Given the description of an element on the screen output the (x, y) to click on. 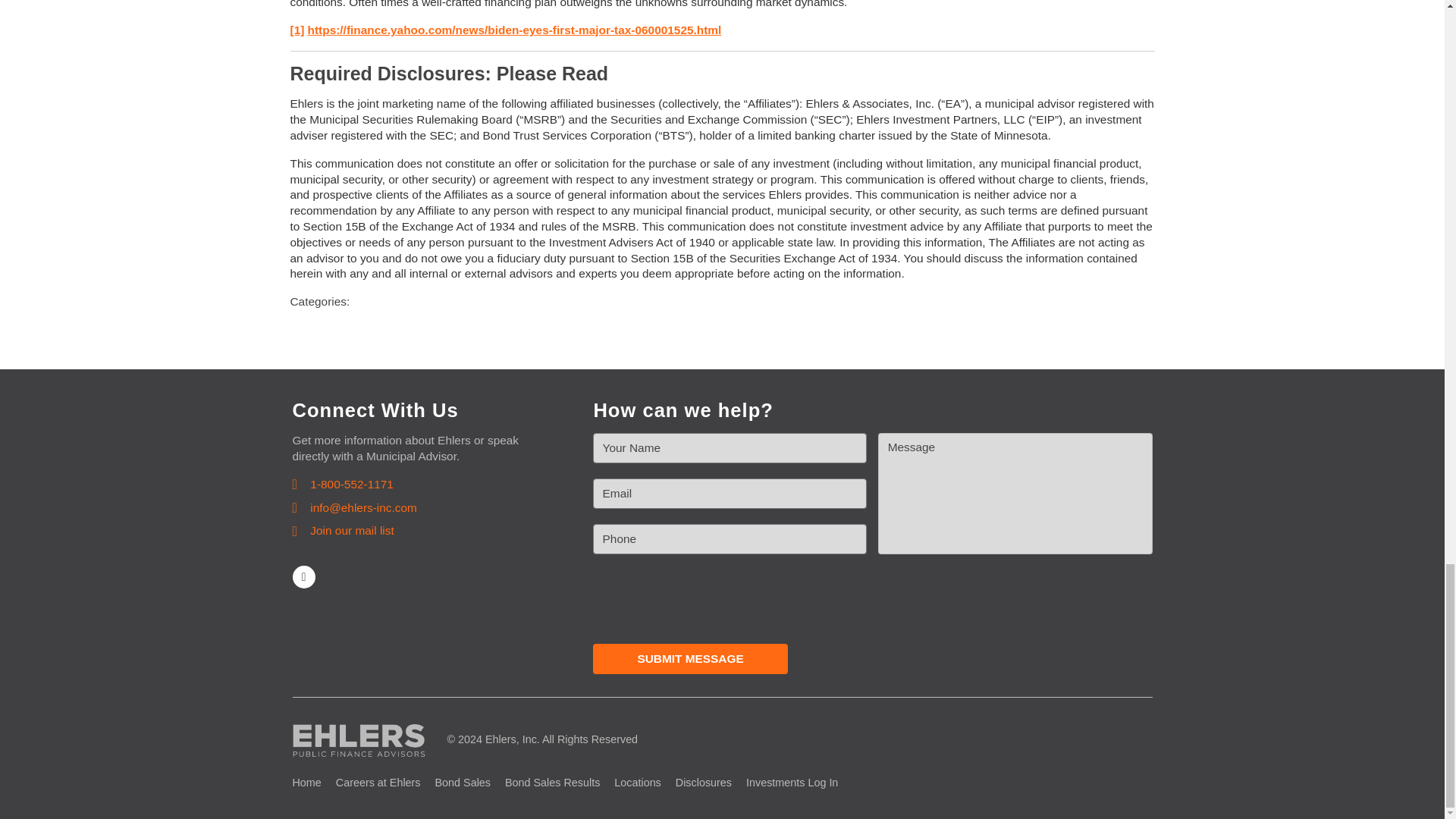
    1-800-552-1171 (342, 484)
    Join our mail list (343, 530)
Home (306, 782)
Bond Sales (462, 782)
Submit Message (689, 658)
Submit Message (689, 658)
Disclosures (703, 782)
Careers at Ehlers (378, 782)
Bond Sales Results (552, 782)
Investments Log In (791, 782)
Locations (637, 782)
